Given the description of an element on the screen output the (x, y) to click on. 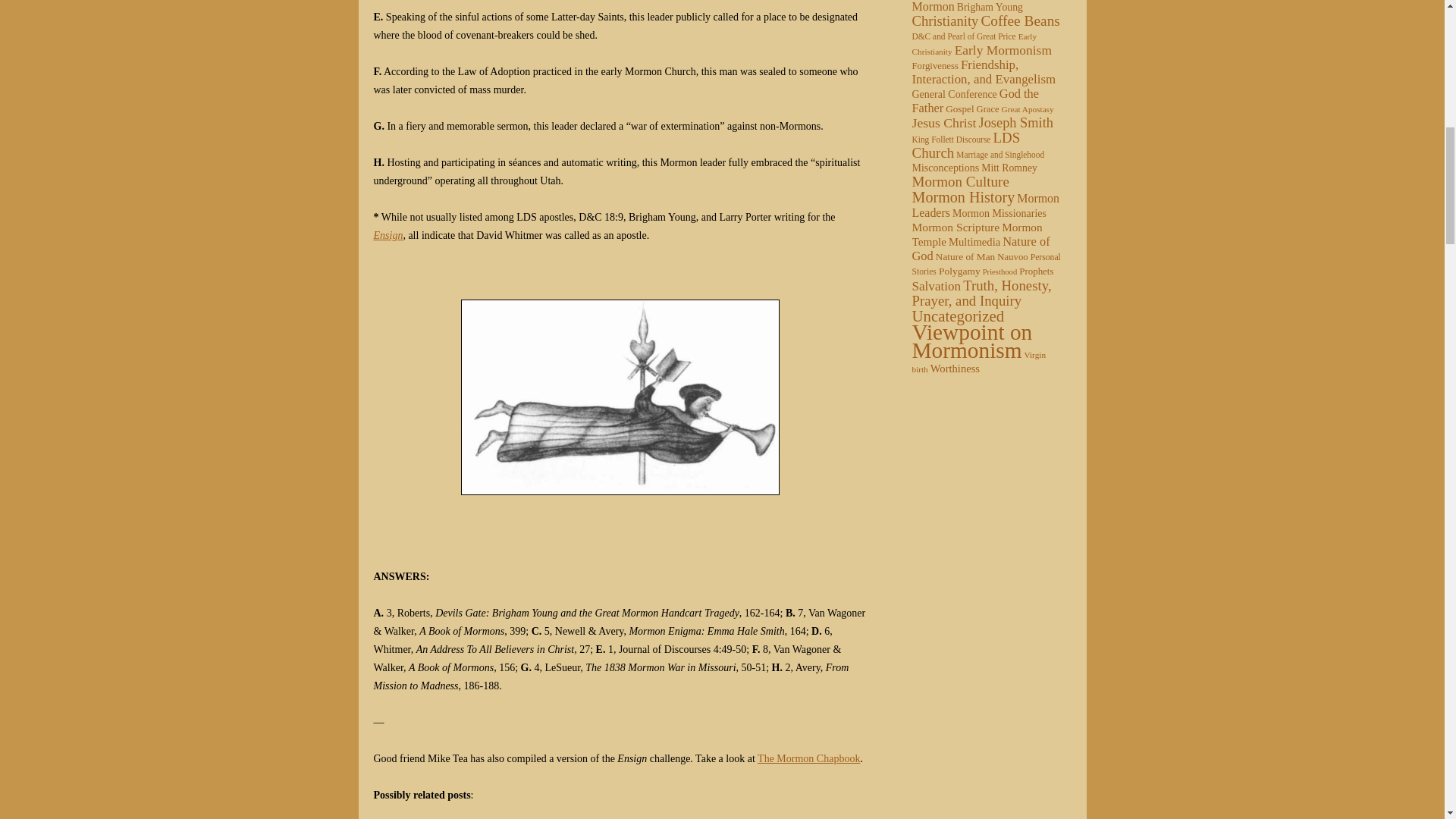
The Mormon Chapbook (808, 758)
Mormon Angel on Nauvoo Temple (619, 397)
Ensign (387, 235)
